Given the description of an element on the screen output the (x, y) to click on. 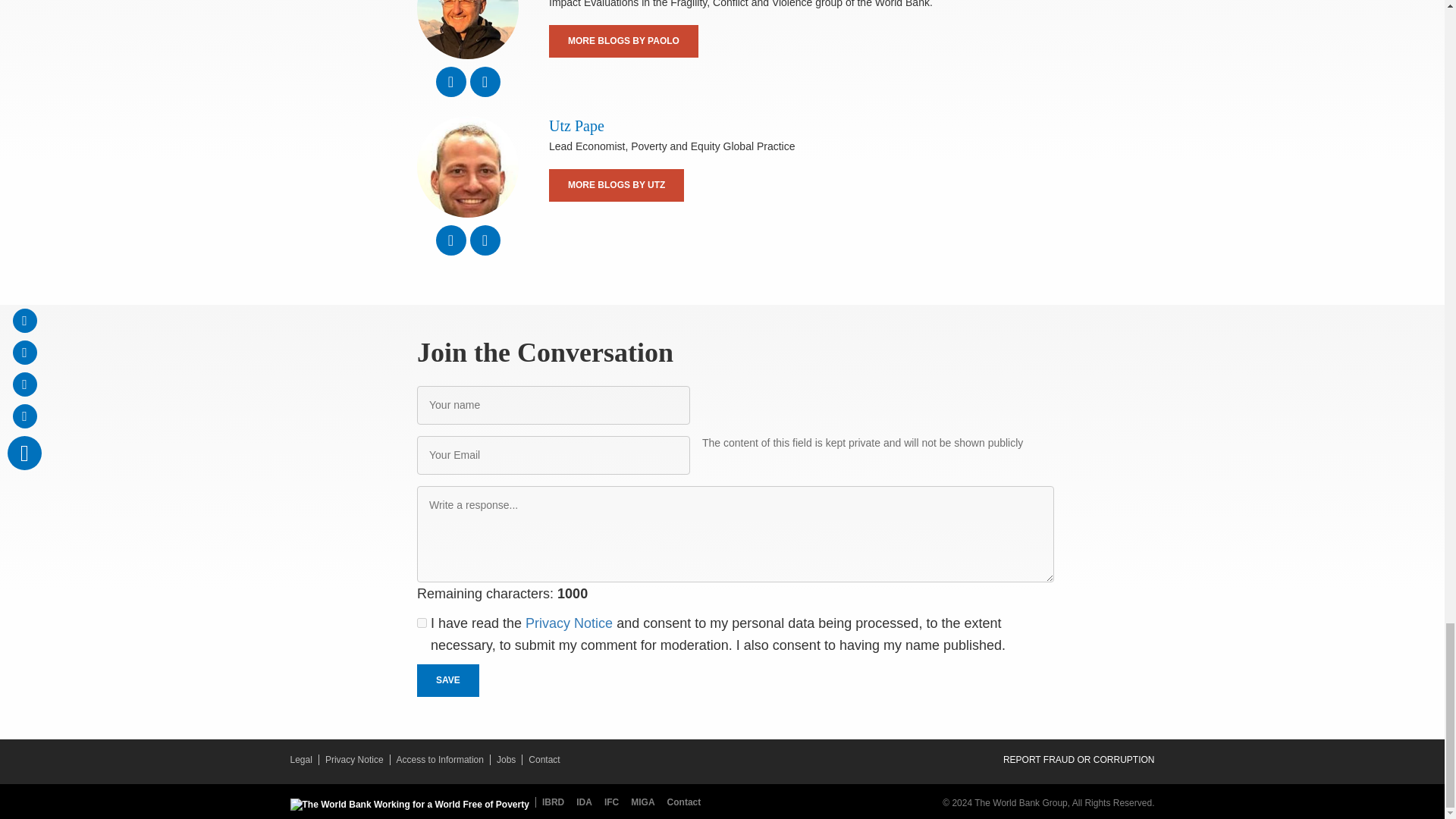
Contact (683, 801)
The World Bank Working for a World Free of Poverty (408, 804)
Paolo Verme (467, 29)
MIGA (645, 801)
IBRD (552, 801)
Utz Pape (467, 166)
Your name (553, 405)
1 (421, 623)
IDA (587, 801)
IFC (614, 801)
